Given the description of an element on the screen output the (x, y) to click on. 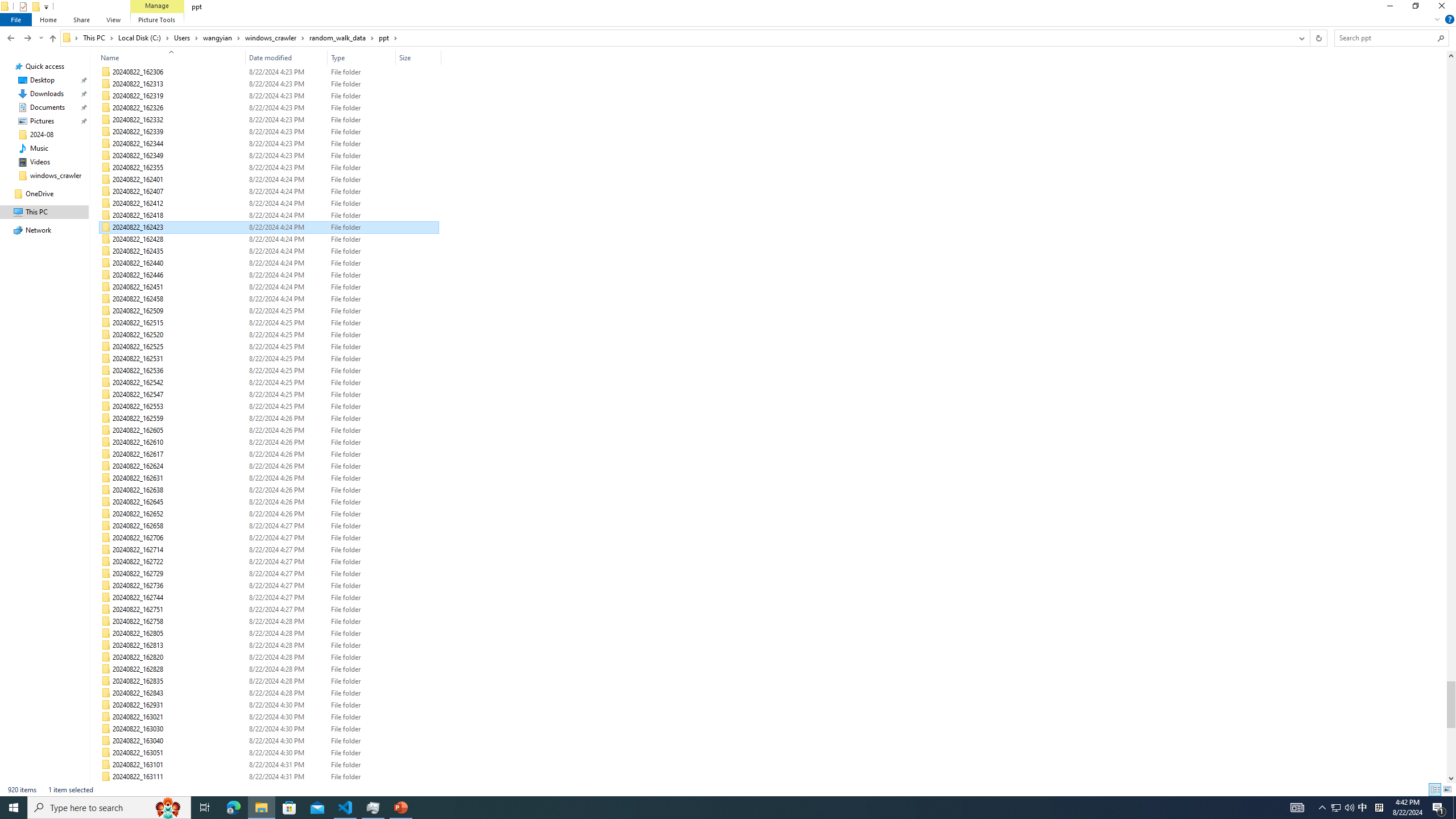
20240822_162736 (269, 585)
Local Disk (C:) (143, 37)
File tab (16, 19)
20240822_162446 (269, 274)
20240822_162355 (269, 167)
20240822_162435 (269, 250)
20240822_162559 (269, 418)
Recent locations (40, 37)
20240822_162531 (269, 358)
20240822_162313 (269, 83)
Search Box (1386, 37)
Previous Locations (1301, 37)
20240822_162458 (269, 299)
